Given the description of an element on the screen output the (x, y) to click on. 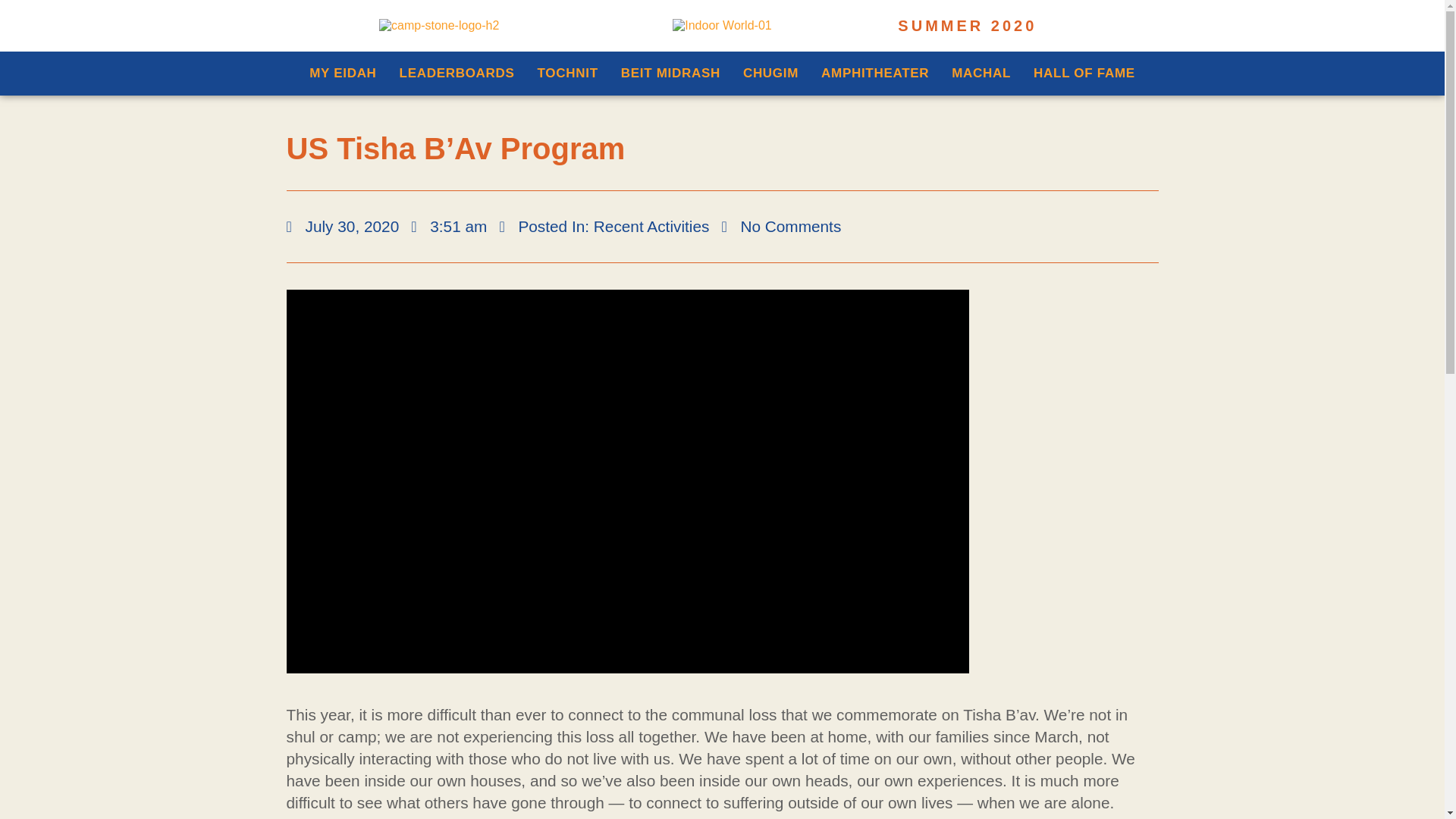
CHUGIM (770, 73)
Indoor World-01 (721, 25)
TOCHNIT (567, 73)
AMPHITHEATER (874, 73)
camp-stone-logo-h2 (438, 25)
MY EIDAH (342, 73)
HALL OF FAME (1084, 73)
MACHAL (981, 73)
BEIT MIDRASH (671, 73)
LEADERBOARDS (456, 73)
